Given the description of an element on the screen output the (x, y) to click on. 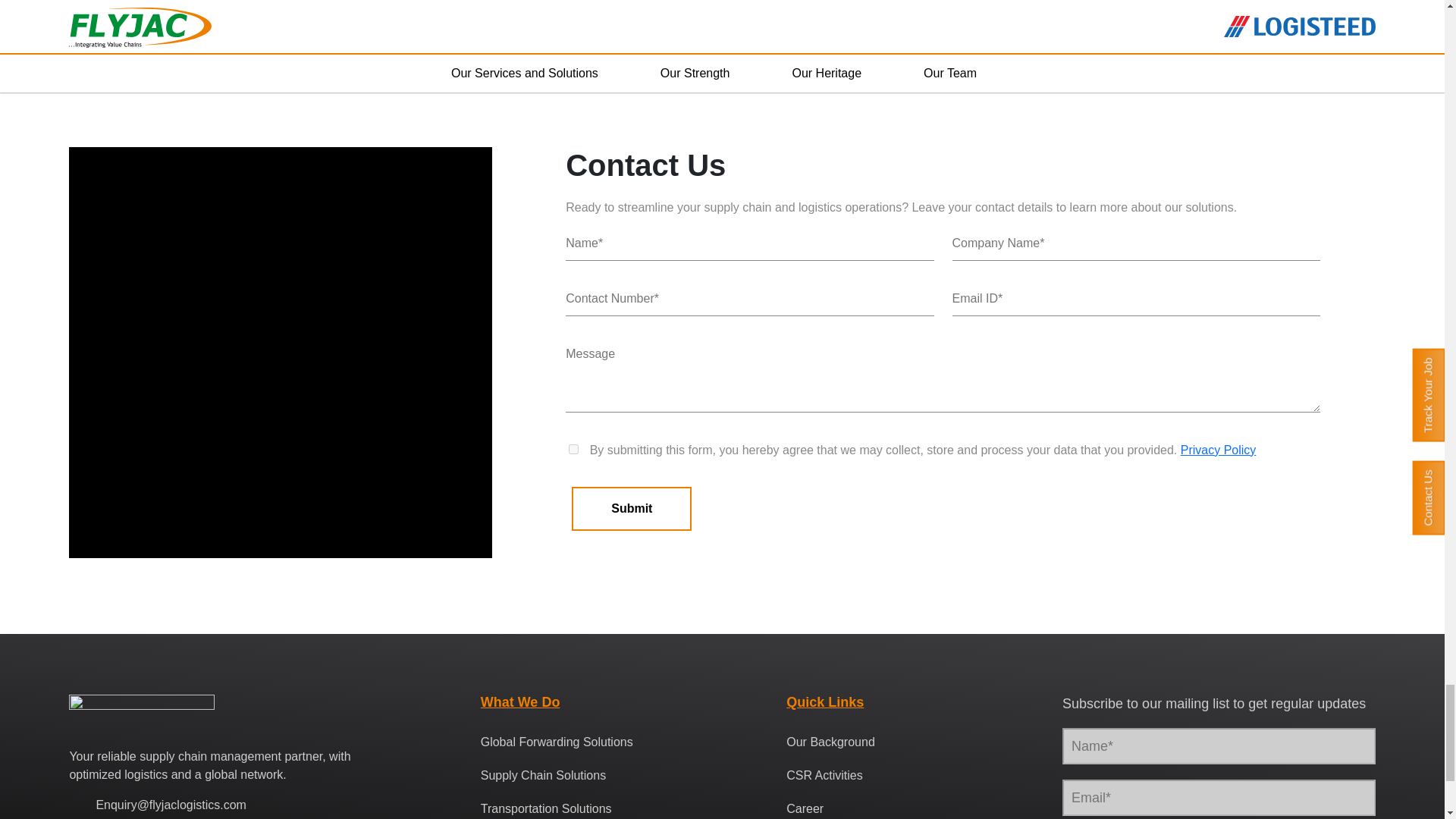
Submit (631, 508)
1 (573, 449)
